Given the description of an element on the screen output the (x, y) to click on. 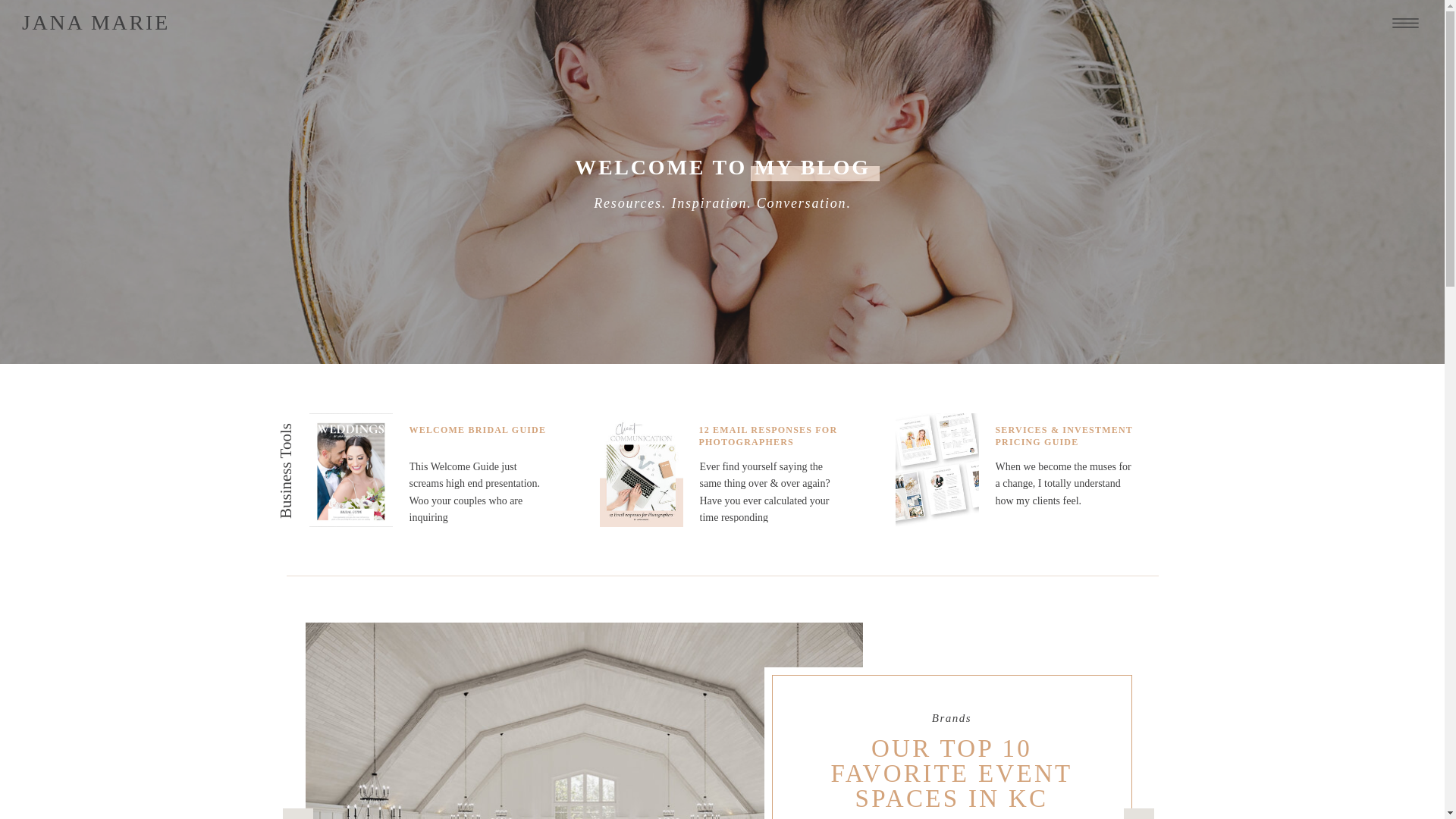
JANA MARIE (95, 24)
OUR TOP 10 FAVORITE EVENT SPACES IN KC (951, 775)
